Given the description of an element on the screen output the (x, y) to click on. 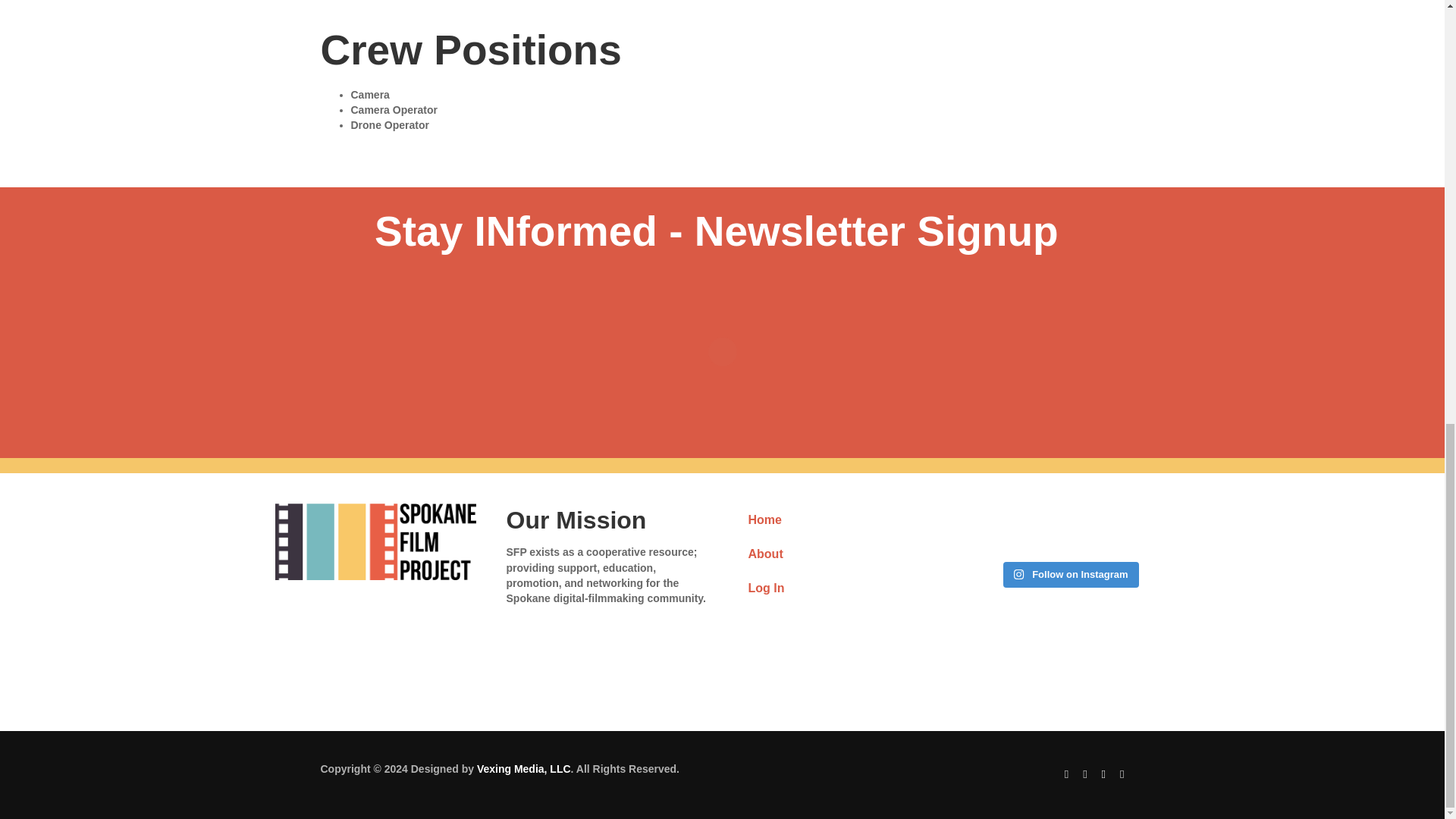
Home (836, 520)
Spokane Film Project (375, 541)
About (836, 553)
